Given the description of an element on the screen output the (x, y) to click on. 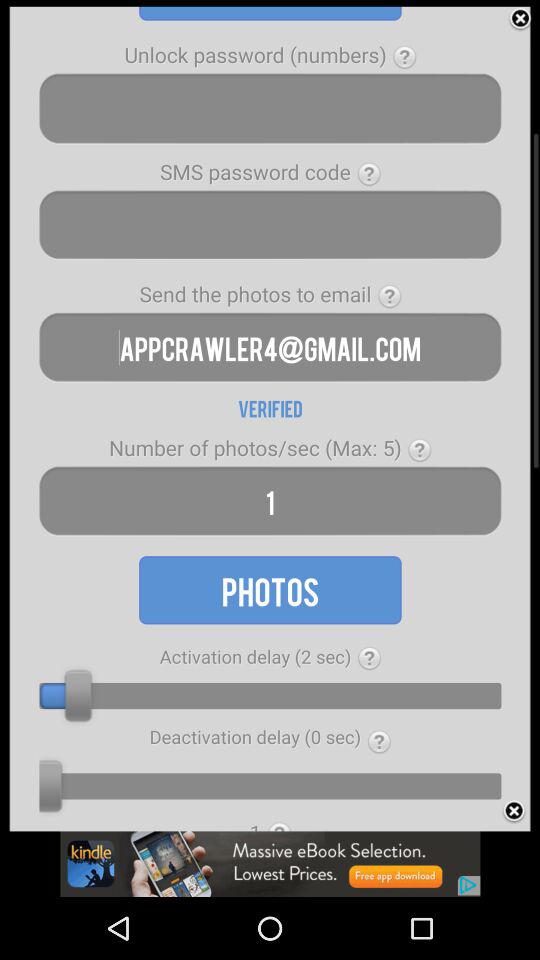
enter sms passcode (270, 224)
